Given the description of an element on the screen output the (x, y) to click on. 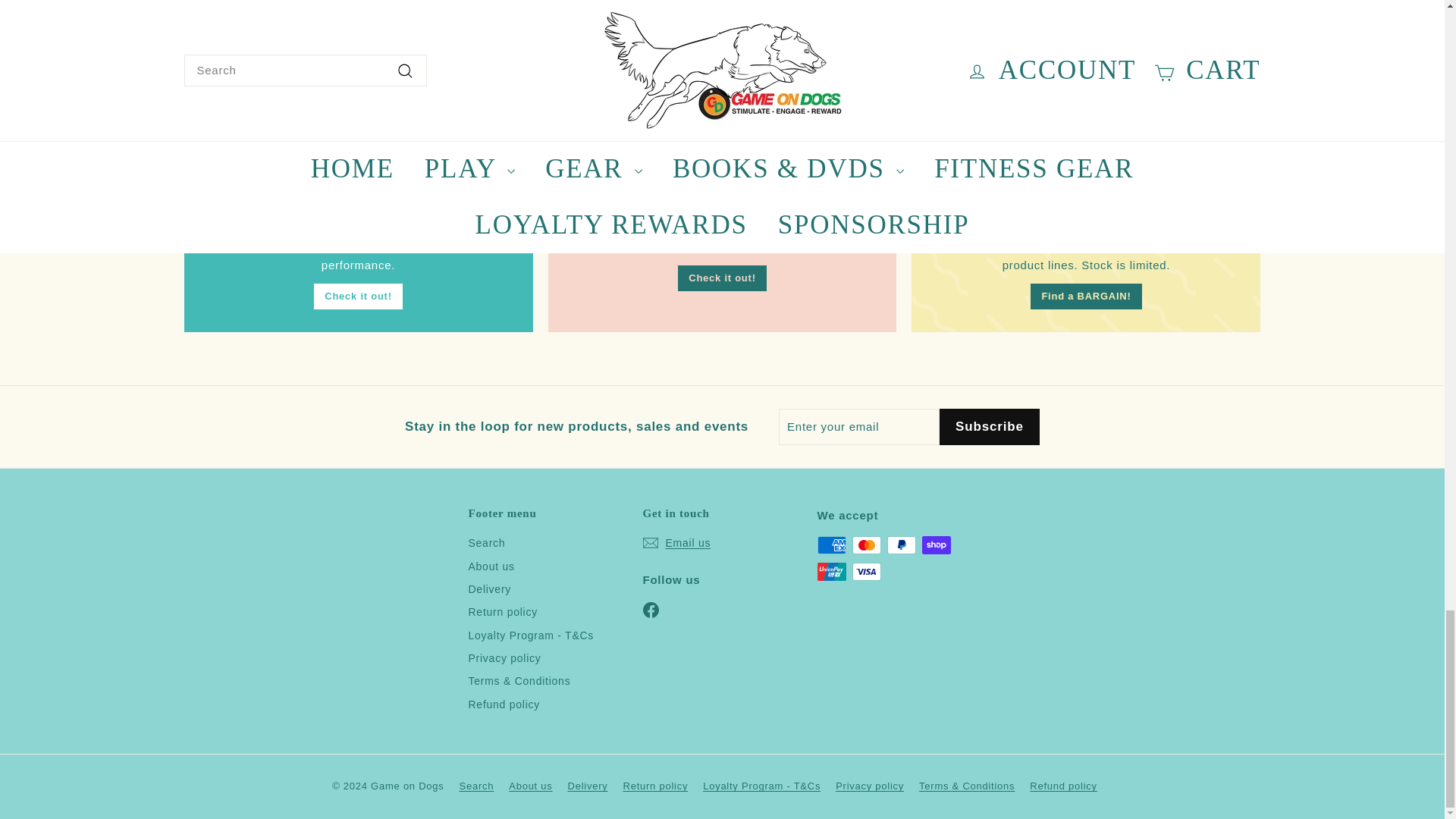
PayPal (900, 545)
Mastercard (865, 545)
American Express (830, 545)
Shop Pay (935, 545)
Union Pay (830, 571)
Game on Dogs on Facebook (651, 609)
